Given the description of an element on the screen output the (x, y) to click on. 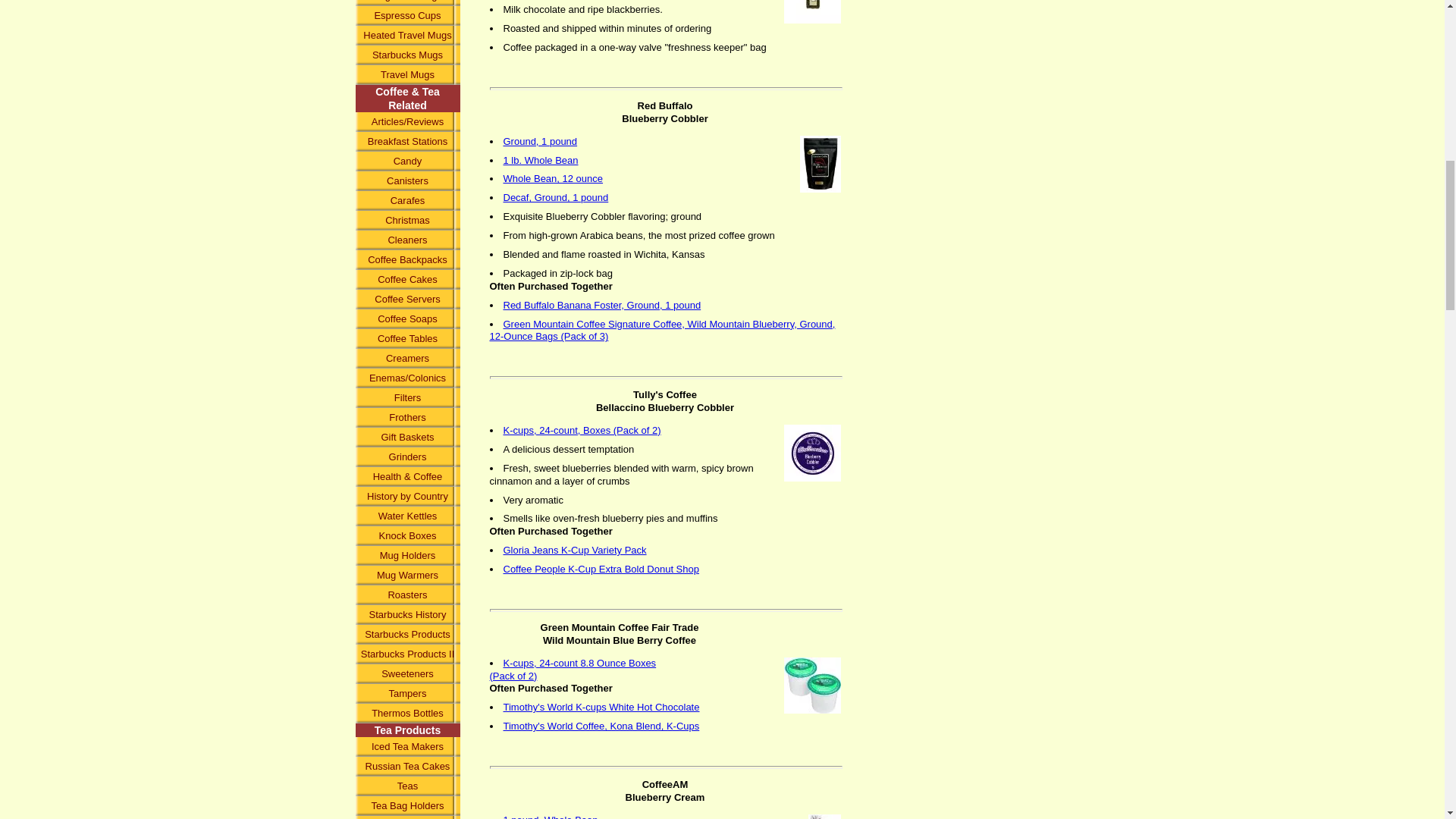
Filters (407, 397)
Engraved Mugs (407, 2)
Coffee Servers (407, 299)
Cleaners (407, 240)
Creamers (407, 358)
Coffee Cakes (407, 279)
Travel Mugs (407, 75)
Carafes (407, 200)
Christmas (407, 220)
Espresso Cups (407, 15)
Starbucks Mugs (407, 55)
Canisters (407, 180)
Heated Travel Mugs (407, 35)
Candy (407, 161)
Coffee Backpacks (407, 260)
